Given the description of an element on the screen output the (x, y) to click on. 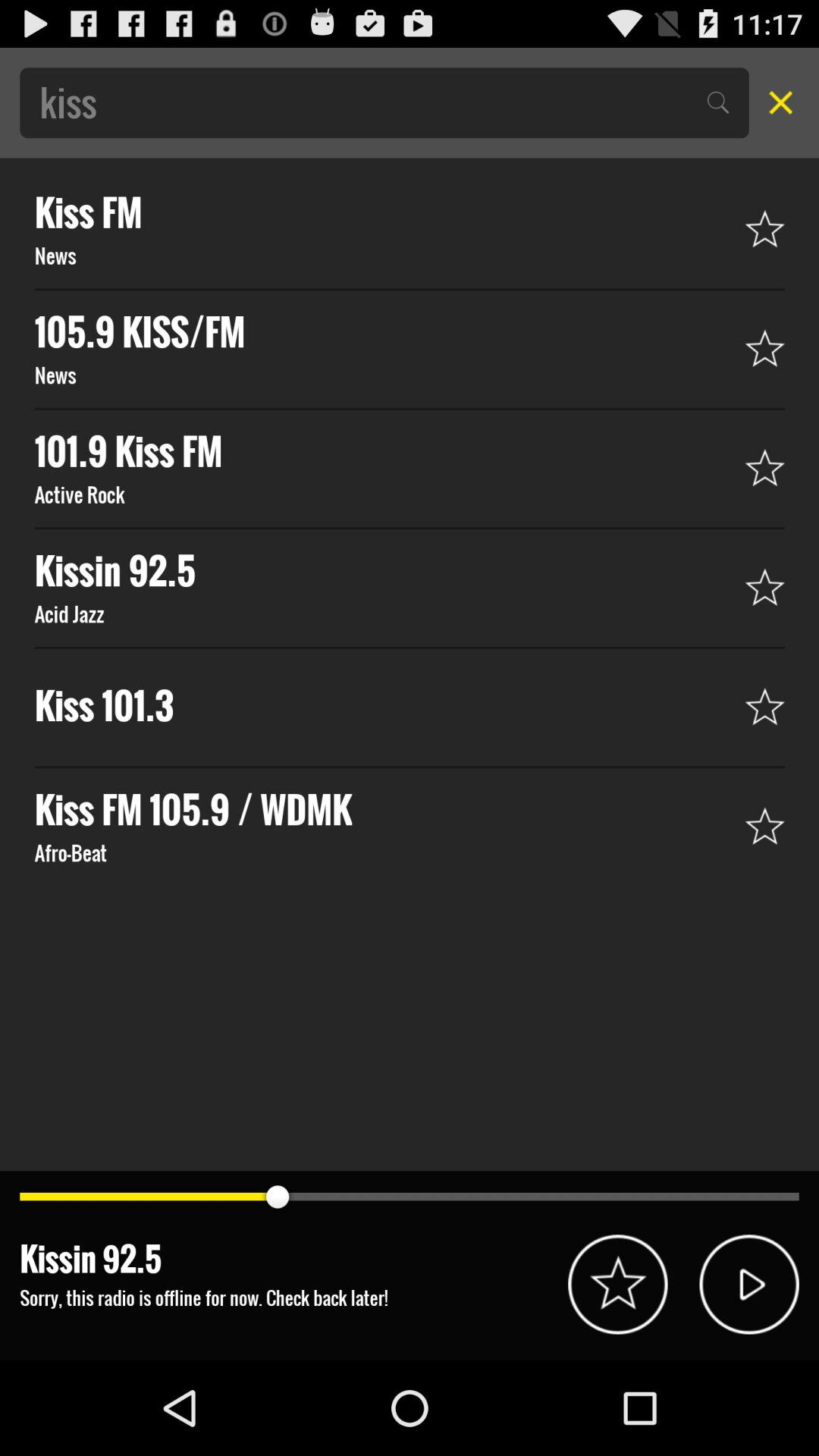
close search (776, 102)
